Given the description of an element on the screen output the (x, y) to click on. 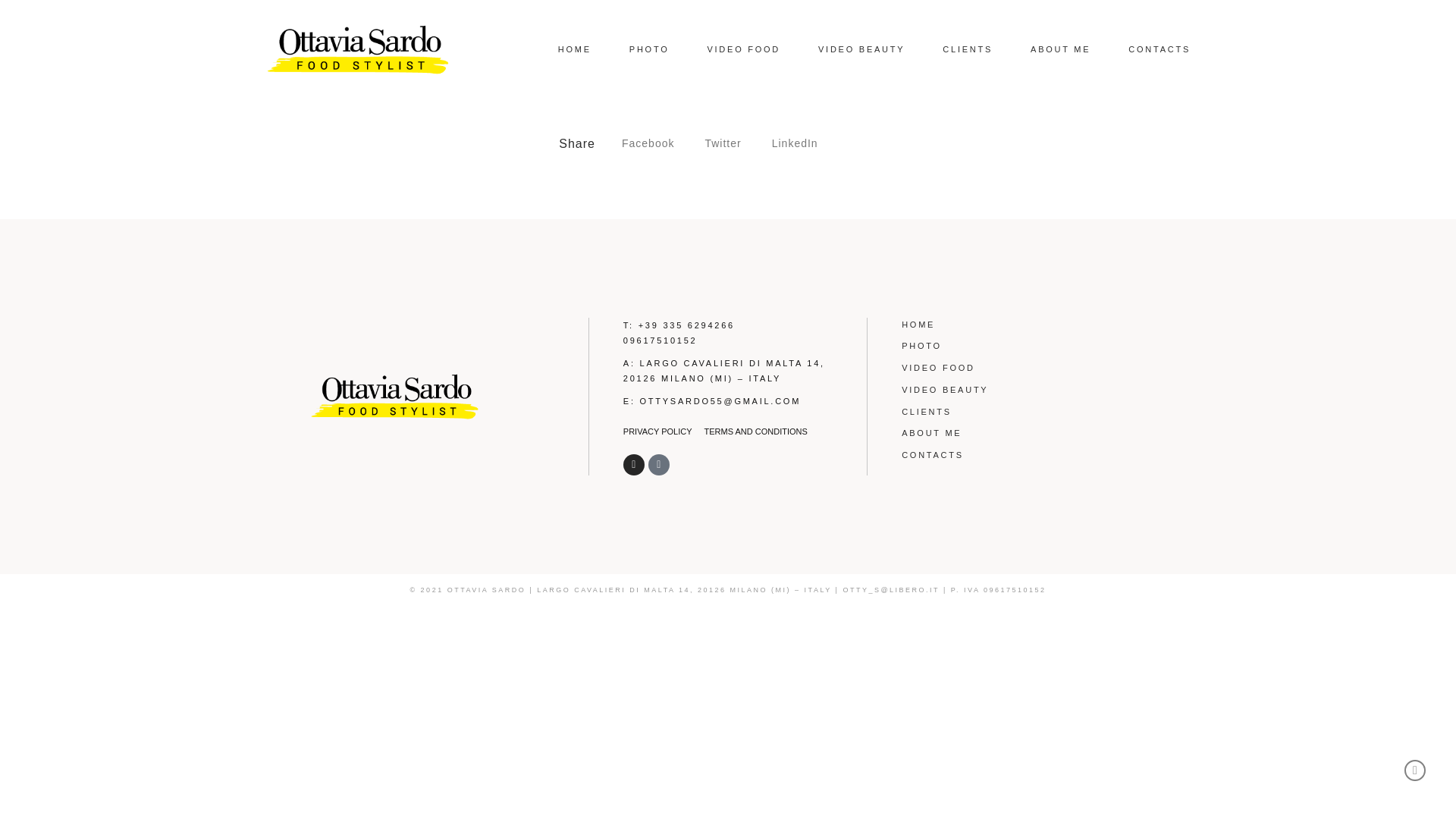
VIDEO BEAUTY (861, 49)
VIDEO FOOD (743, 49)
HOME (1024, 324)
CONTACTS (1159, 49)
VIDEO FOOD (1024, 368)
TERMS AND CONDITIONS (756, 431)
PHOTO (648, 49)
Vimeo-square (658, 464)
ABOUT ME (1024, 432)
PHOTO (1024, 345)
CLIENTS (967, 49)
ABOUT ME (1060, 49)
CLIENTS (1024, 411)
HOME (574, 49)
VIDEO BEAUTY (1024, 390)
